Given the description of an element on the screen output the (x, y) to click on. 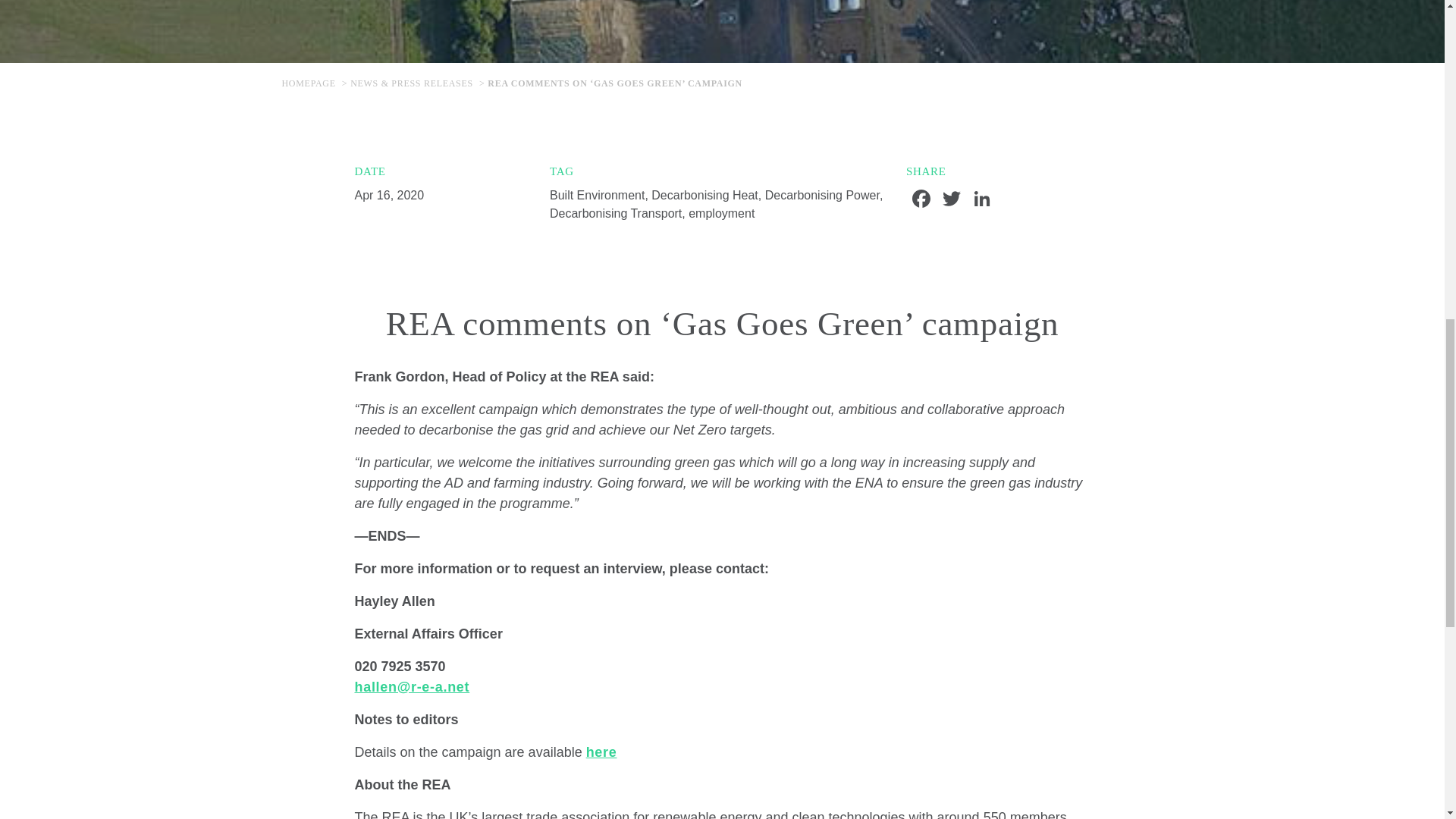
Homepage (310, 82)
Twitter (951, 200)
LinkedIn (981, 200)
Facebook (920, 200)
